Given the description of an element on the screen output the (x, y) to click on. 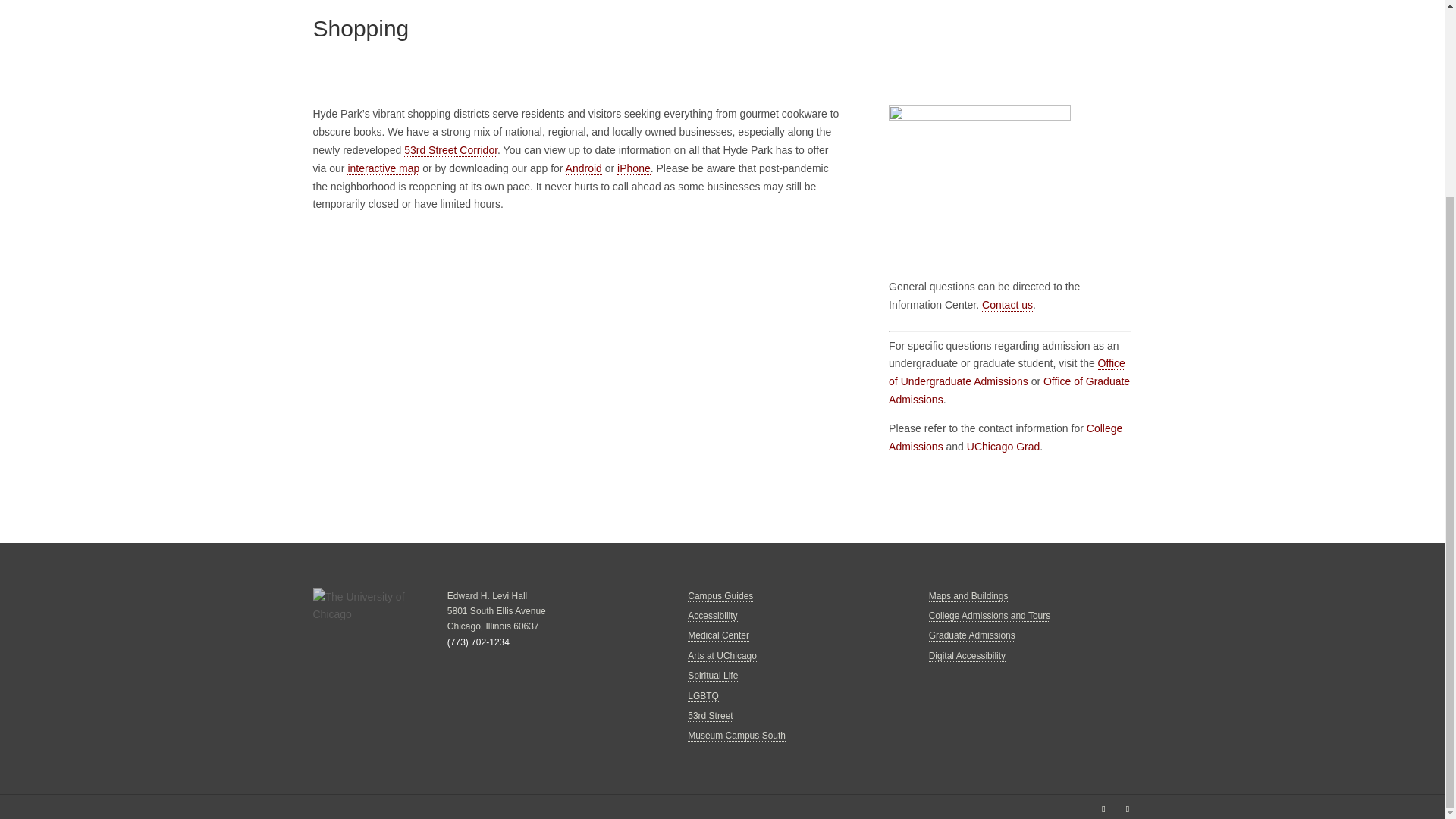
Office of Undergraduate Admissions (1006, 372)
Spiritual Life (712, 675)
Arts at UChicago (722, 655)
interactive map (383, 168)
View here (577, 364)
Museum Campus South (736, 736)
Android (584, 168)
Maps and Buildings (968, 595)
Medical Center (718, 635)
LGBTQ (703, 696)
